Given the description of an element on the screen output the (x, y) to click on. 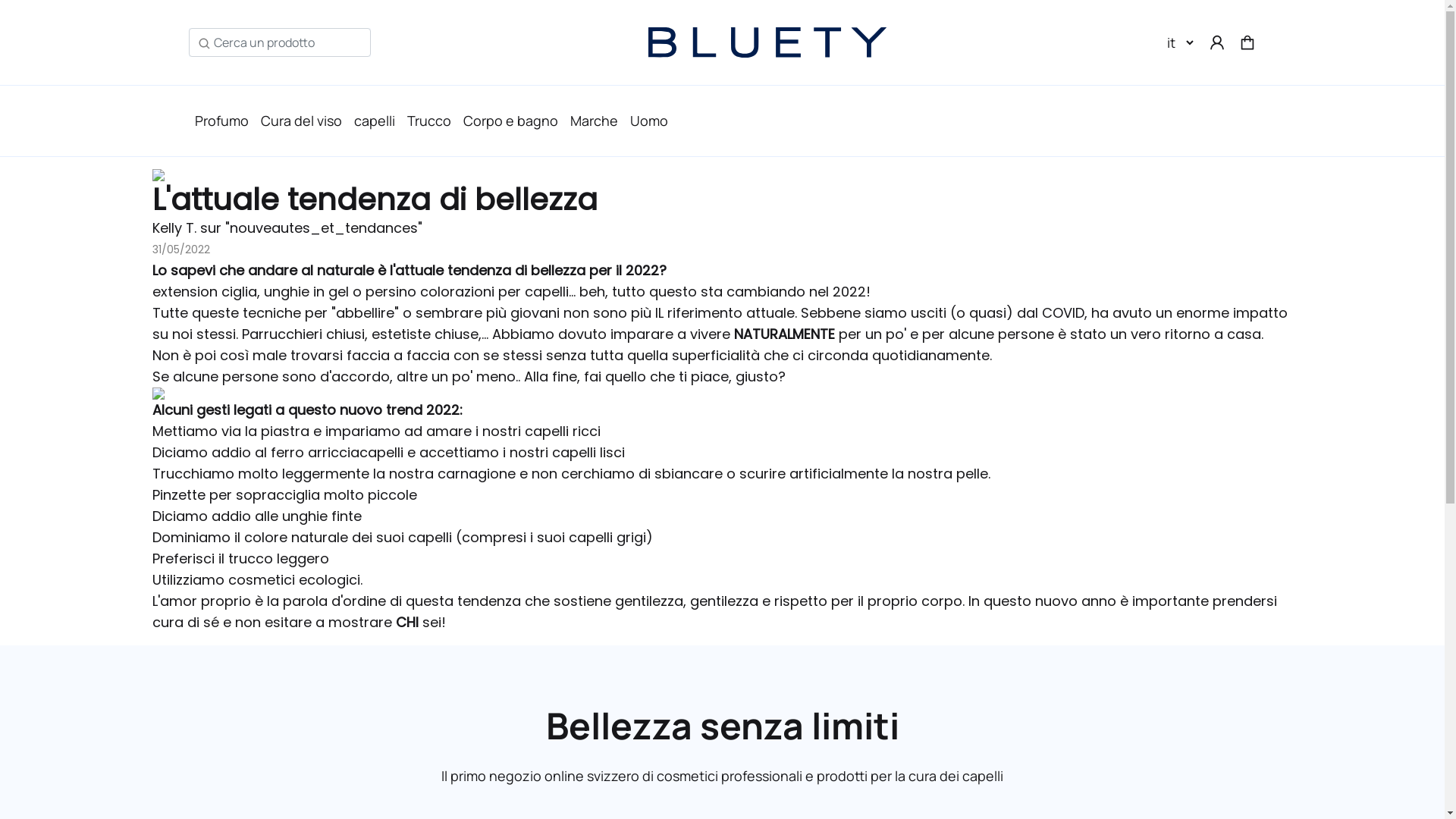
Uomo Element type: text (648, 120)
Trucco Element type: text (428, 120)
Cura del viso Element type: text (301, 120)
capelli Element type: text (373, 120)
Profumo Element type: text (220, 120)
Marche Element type: text (594, 120)
Corpo e bagno Element type: text (509, 120)
